Given the description of an element on the screen output the (x, y) to click on. 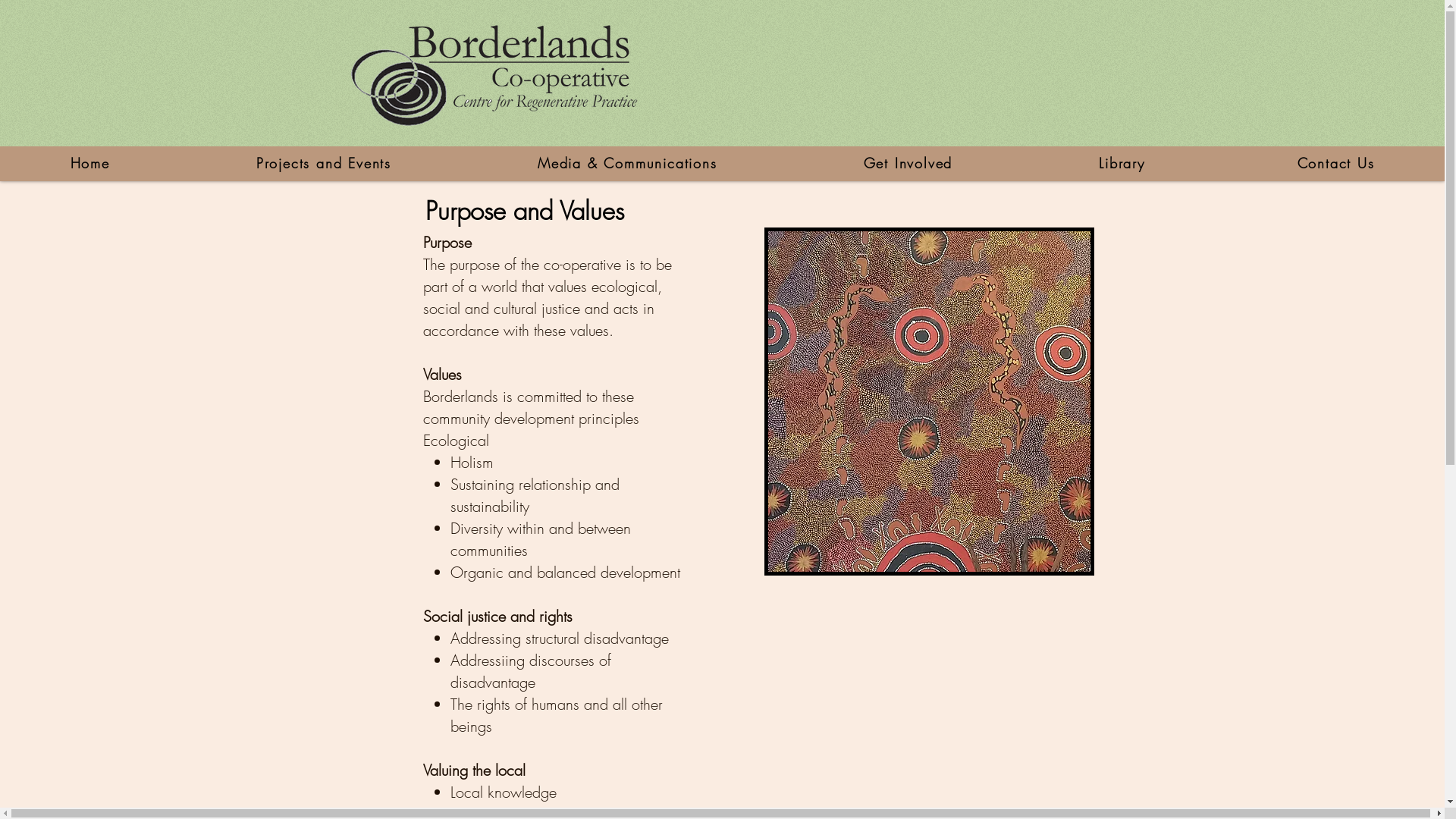
Media & Communications Element type: text (627, 163)
Library  Element type: text (1124, 163)
Projects and Events Element type: text (323, 163)
Contact Us Element type: text (1335, 163)
Get Involved Element type: text (907, 163)
Home Element type: text (89, 163)
